Given the description of an element on the screen output the (x, y) to click on. 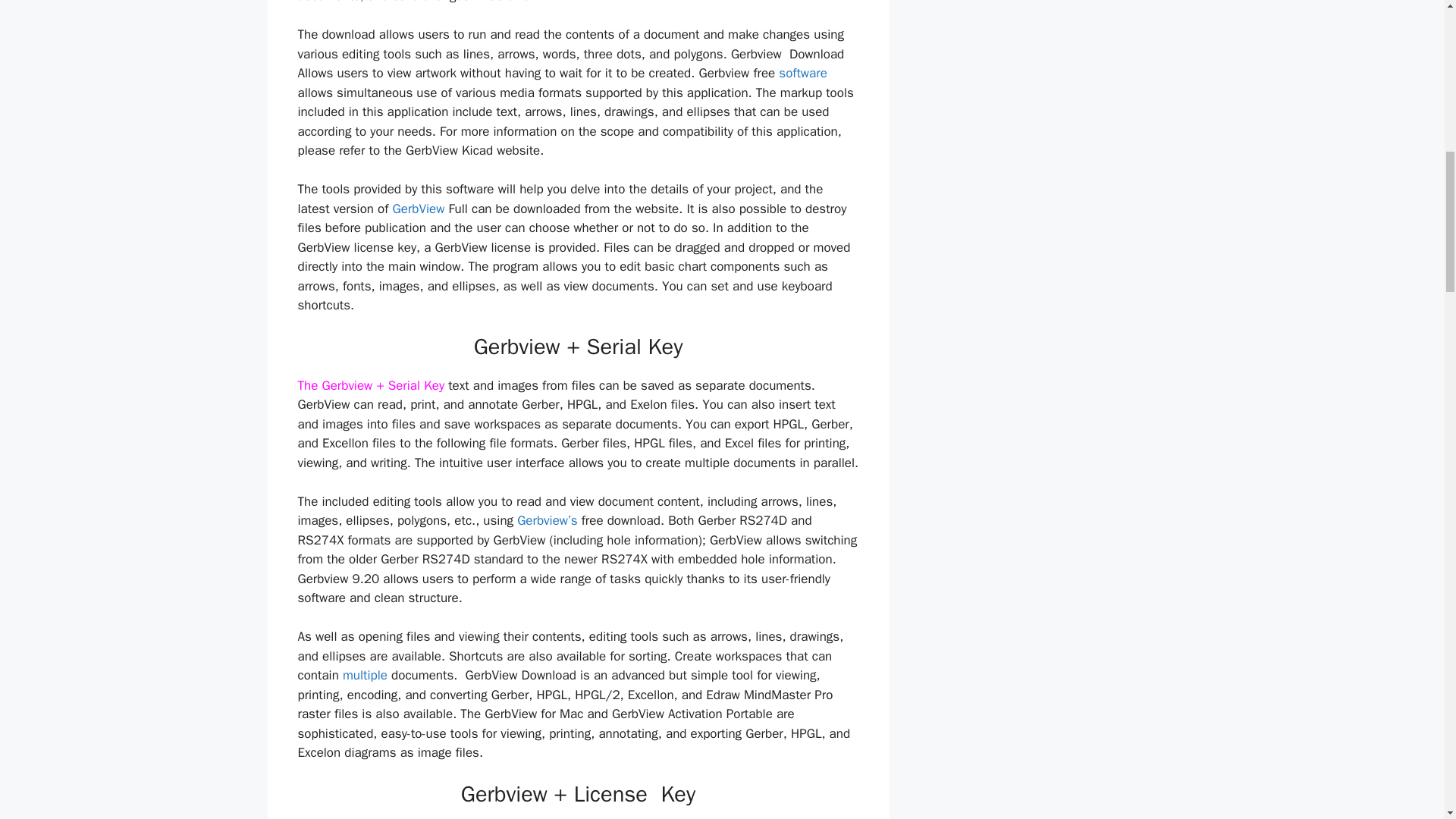
software (802, 73)
GerbView (417, 208)
multiple (364, 675)
